Given the description of an element on the screen output the (x, y) to click on. 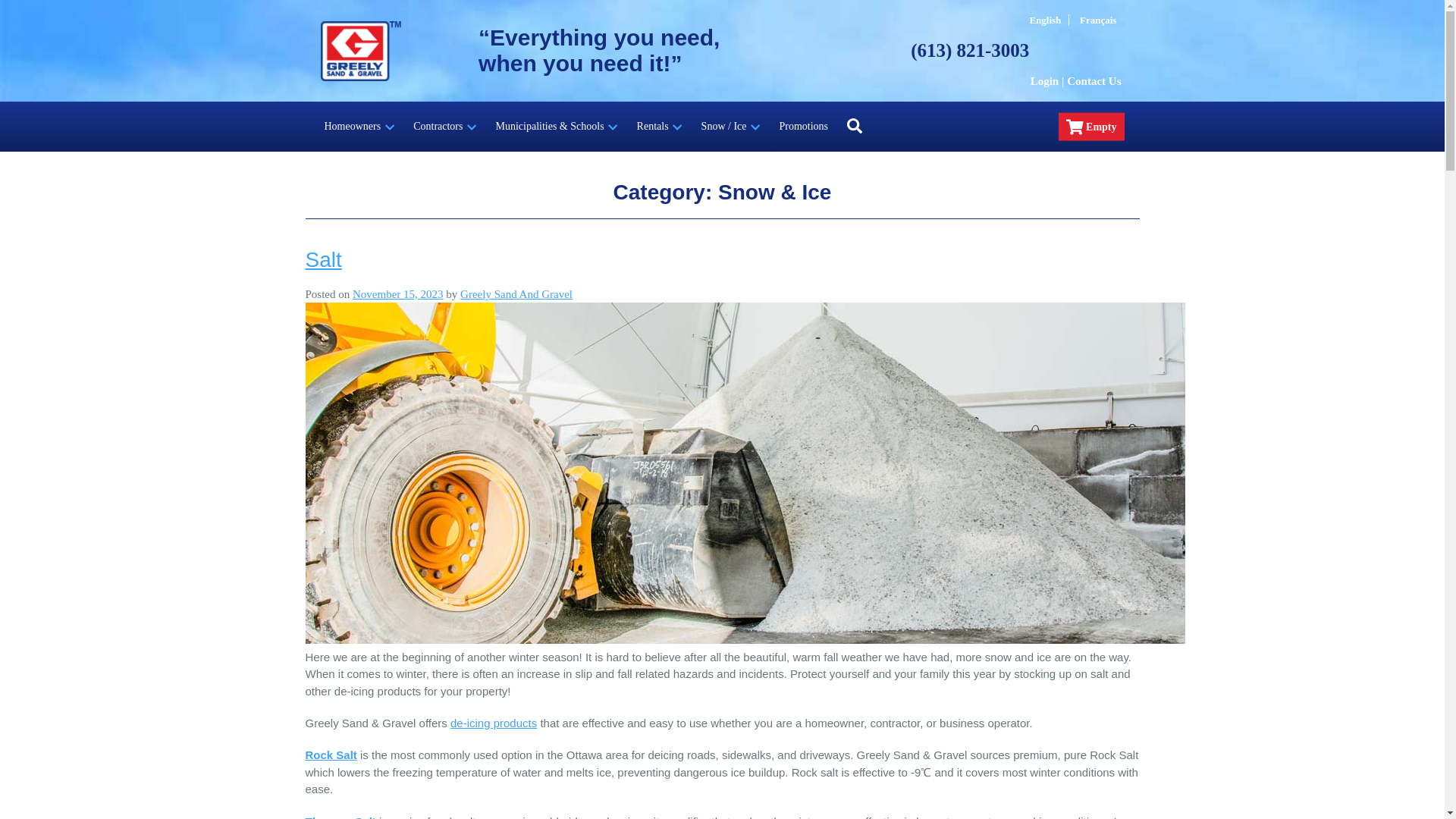
Call us (969, 50)
View your shopping cart (1091, 126)
English (1045, 19)
Contact Us (1095, 80)
Homeowners (360, 126)
